Given the description of an element on the screen output the (x, y) to click on. 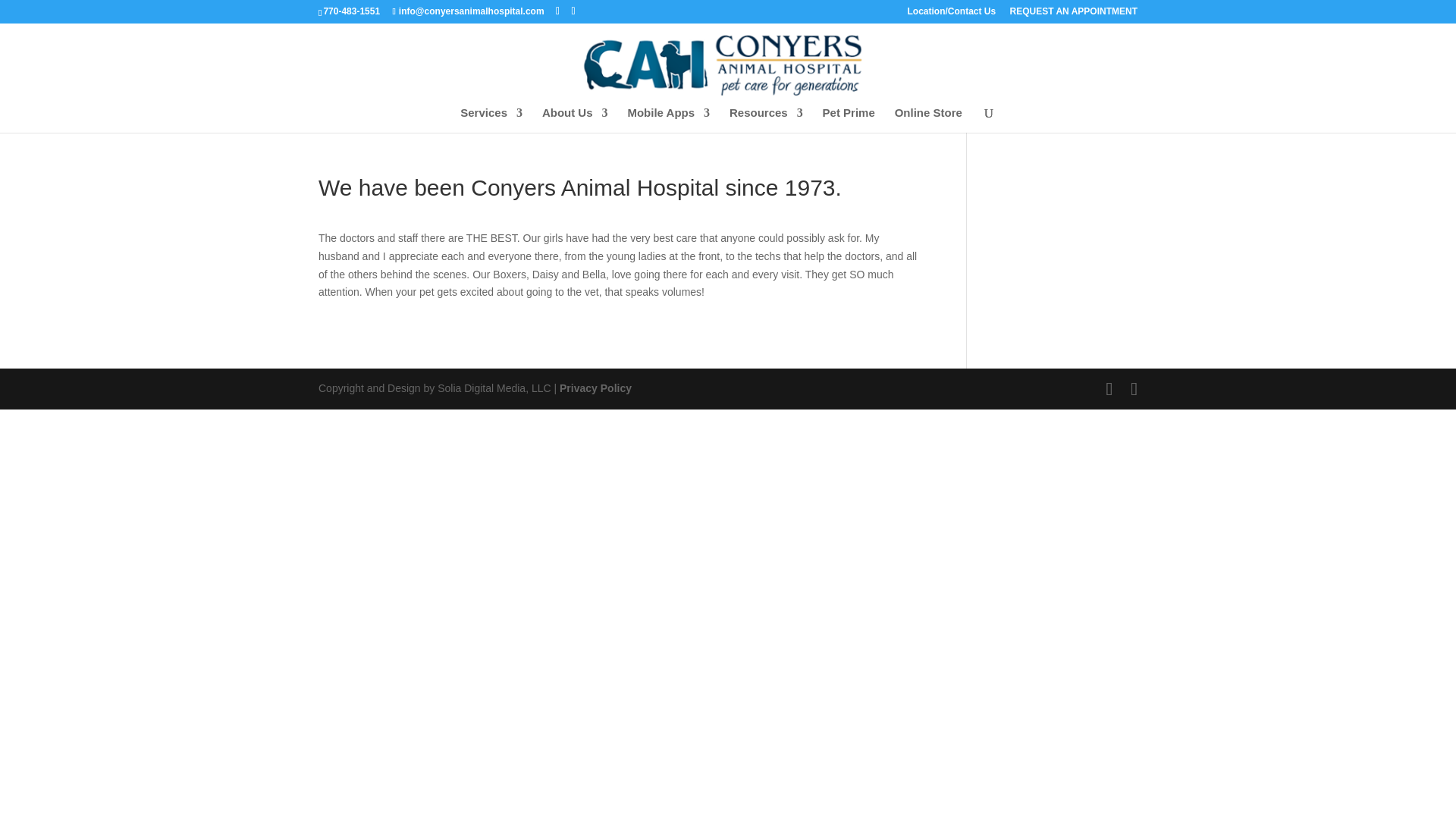
About Us (574, 119)
Services (491, 119)
REQUEST AN APPOINTMENT (1073, 14)
